Given the description of an element on the screen output the (x, y) to click on. 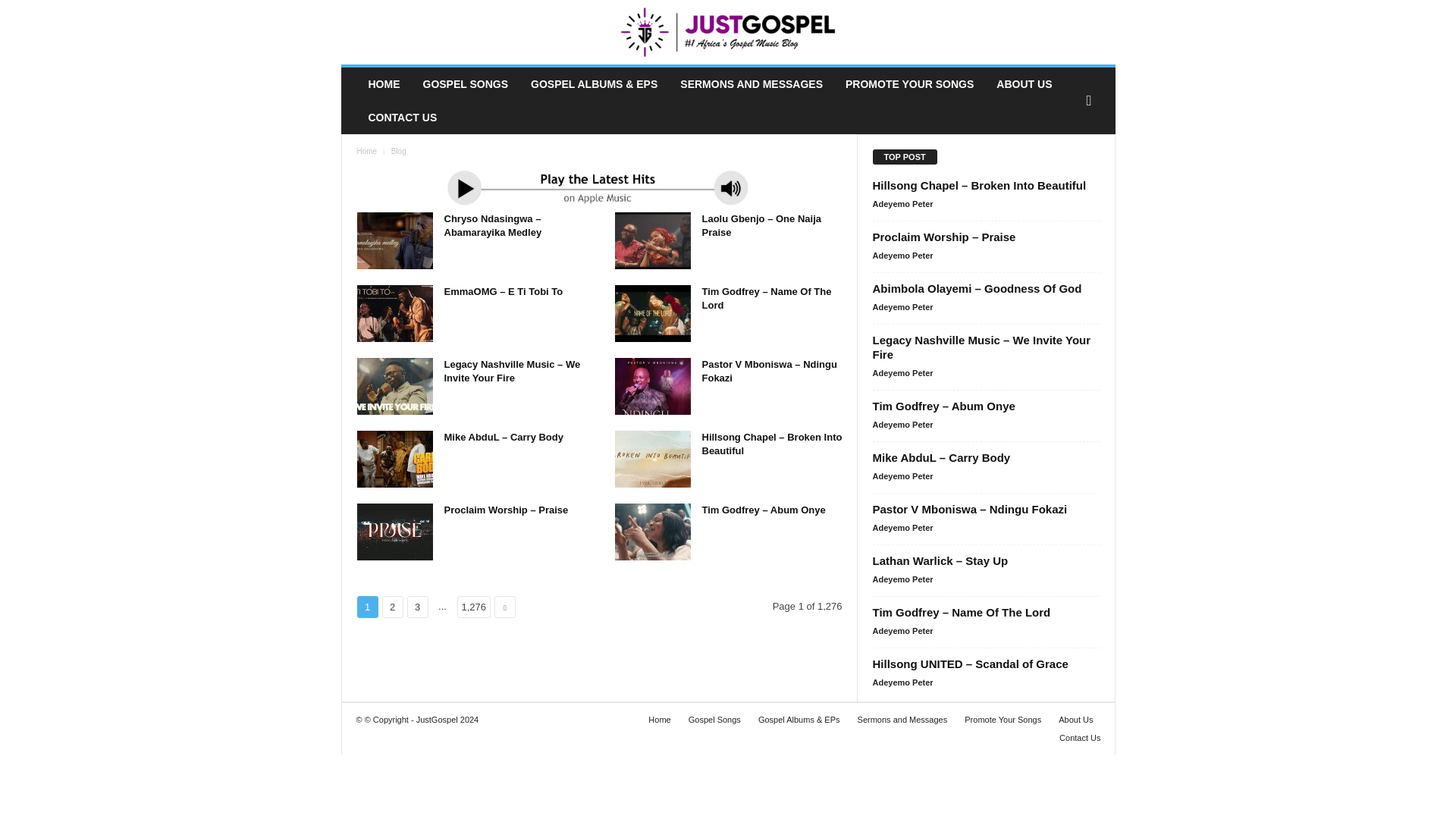
PROMOTE YOUR SONGS (909, 83)
JustGospel (727, 32)
Home (366, 151)
ABOUT US (1023, 83)
GOSPEL SONGS (464, 83)
CONTACT US (402, 117)
HOME (383, 83)
SERMONS AND MESSAGES (751, 83)
